Given the description of an element on the screen output the (x, y) to click on. 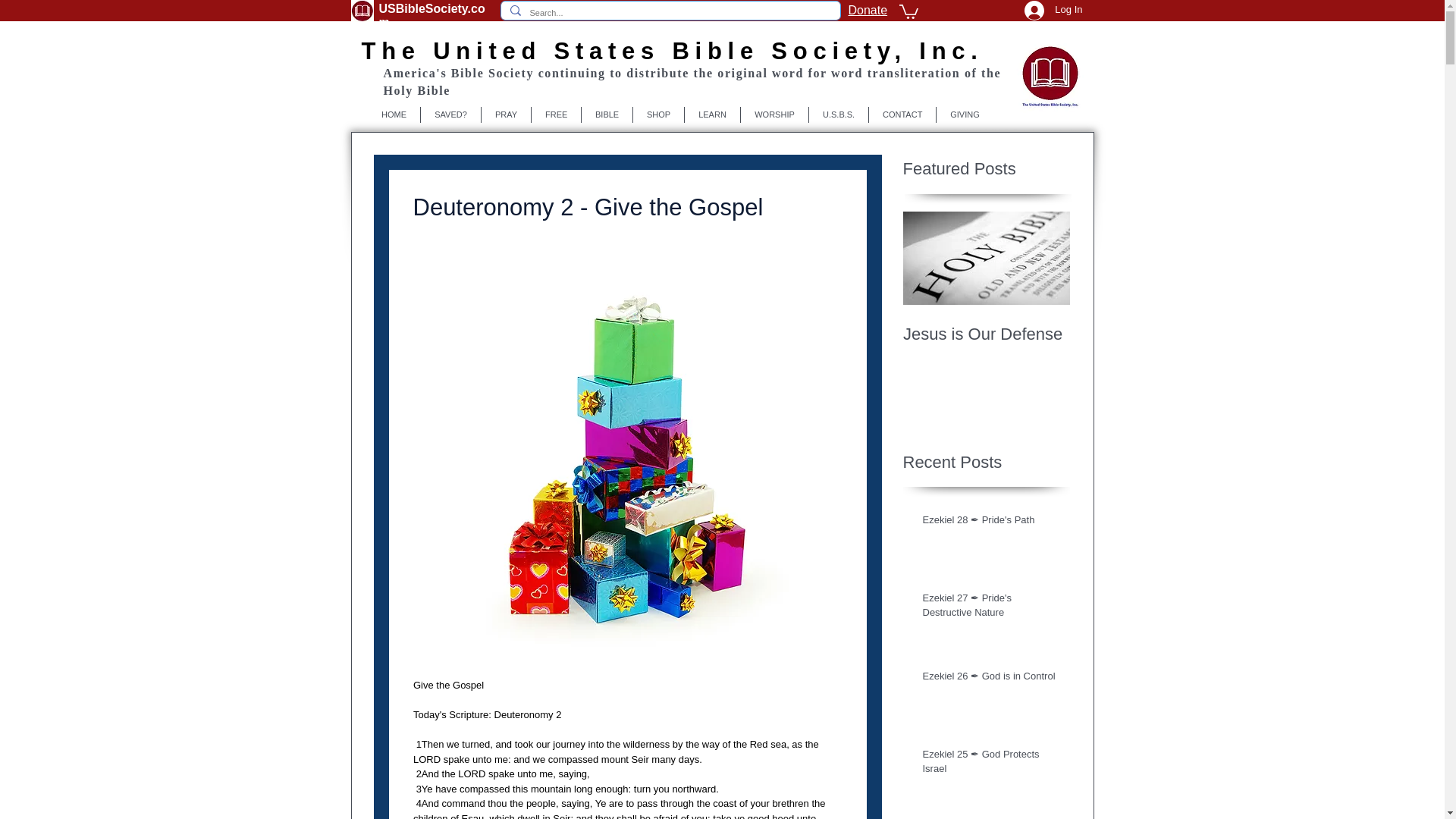
FREE (555, 114)
SAVED? (450, 114)
Donate (866, 10)
HOME (394, 114)
PRAY (506, 114)
BIBLE (605, 114)
USBibleSociety.com (431, 15)
Log In (1053, 12)
SHOP (658, 114)
